Given the description of an element on the screen output the (x, y) to click on. 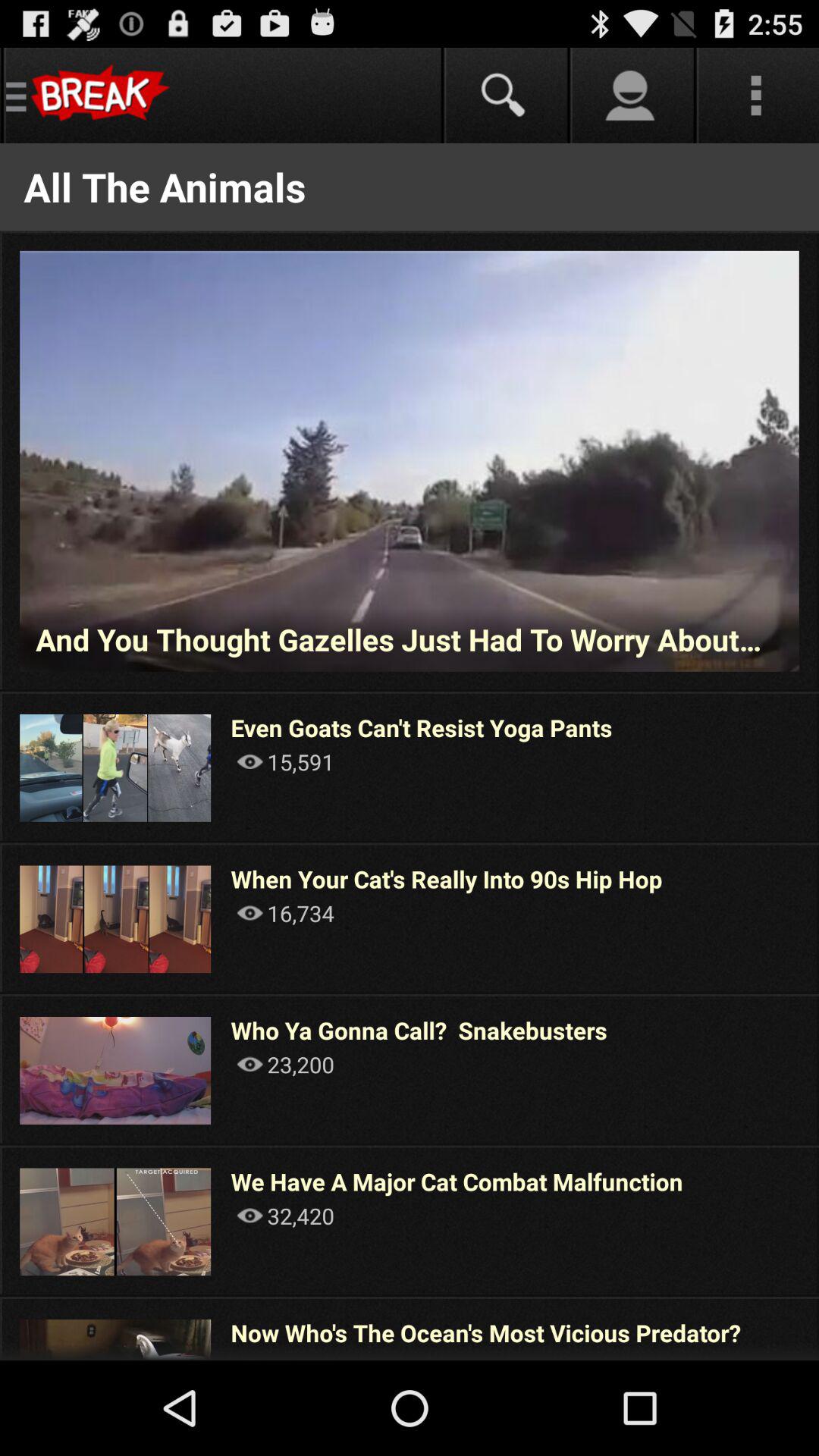
tap app next to we have a (817, 1220)
